Given the description of an element on the screen output the (x, y) to click on. 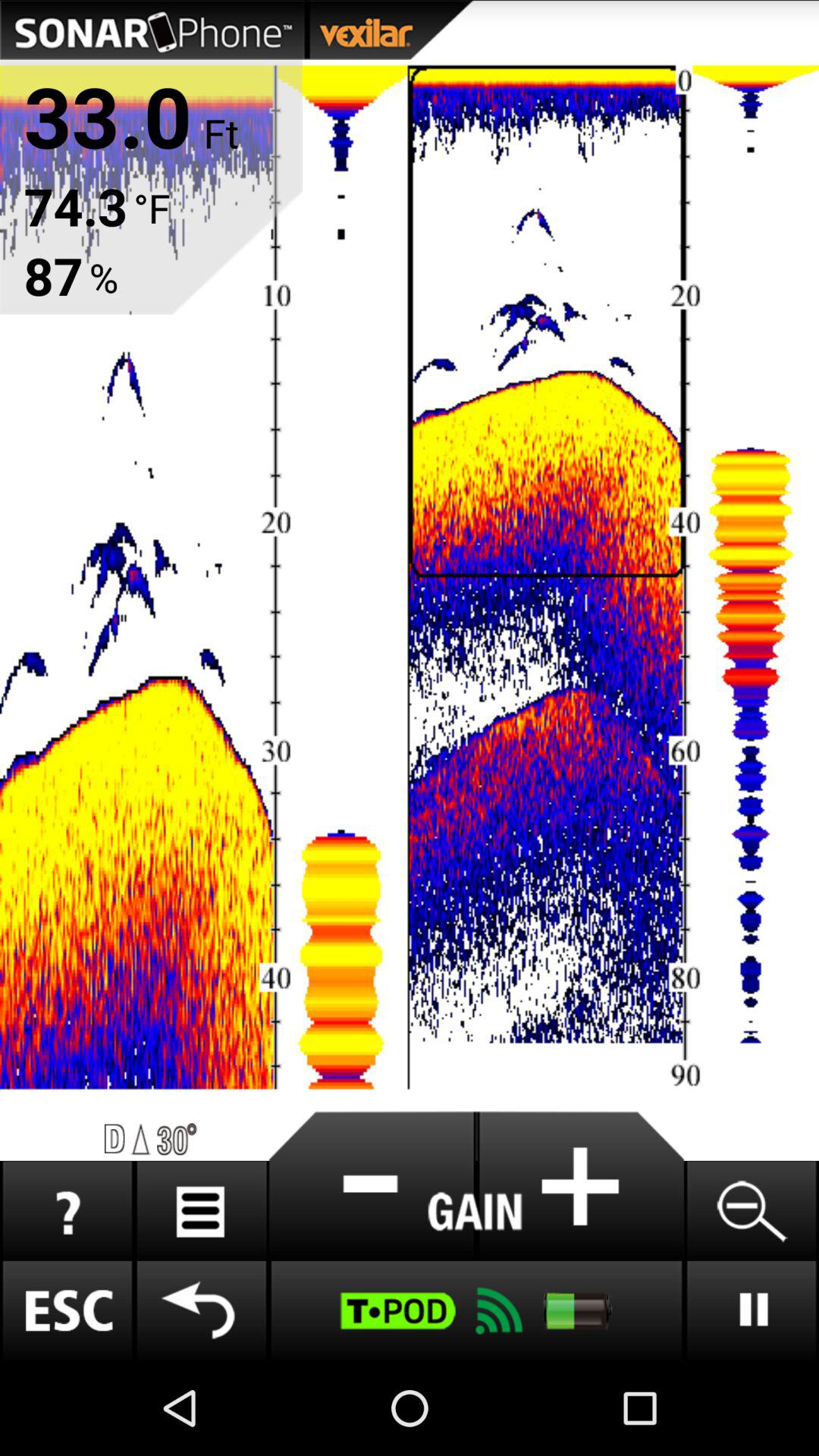
subtract button (372, 1185)
